Given the description of an element on the screen output the (x, y) to click on. 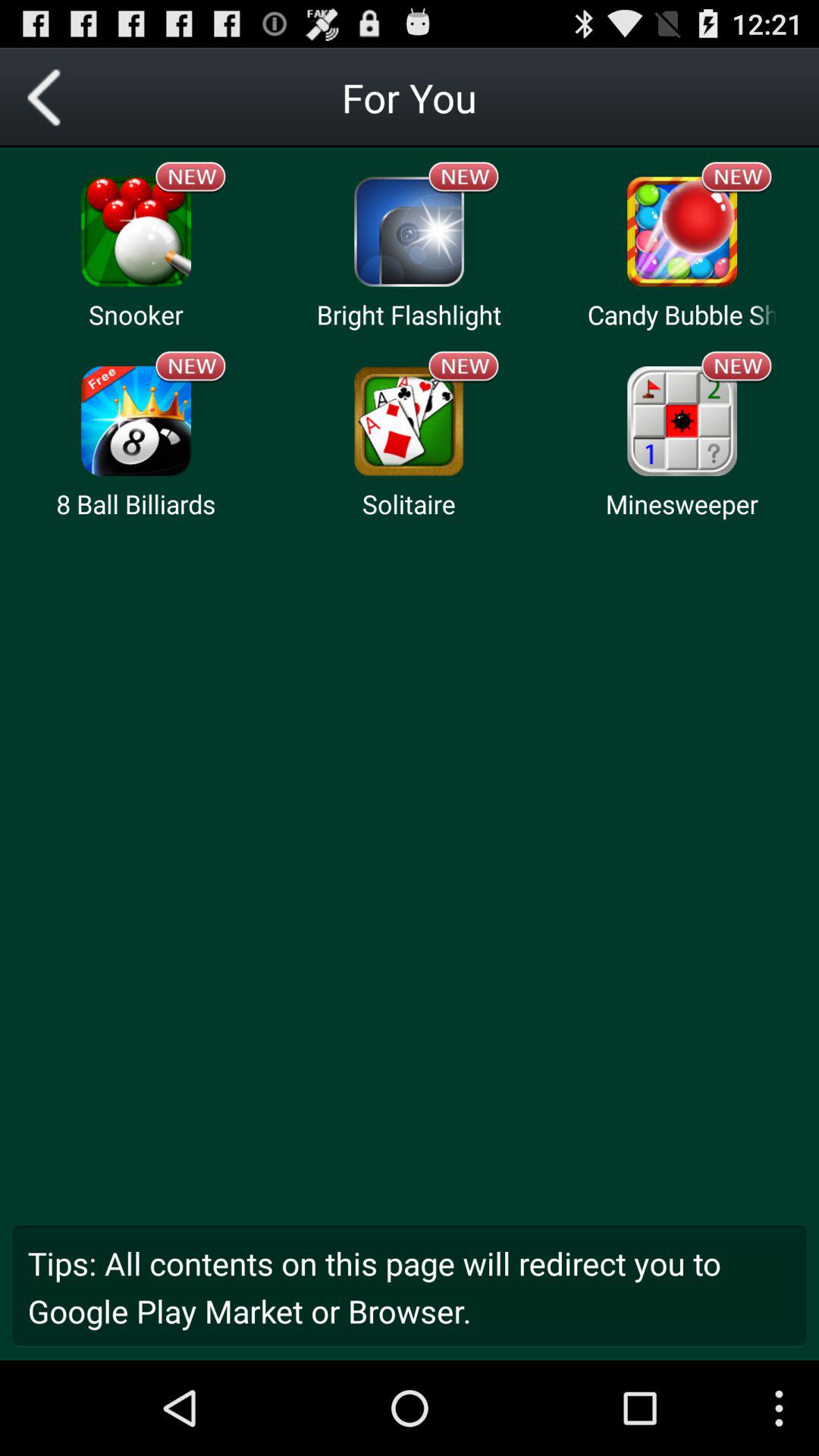
go to previous (49, 97)
